Given the description of an element on the screen output the (x, y) to click on. 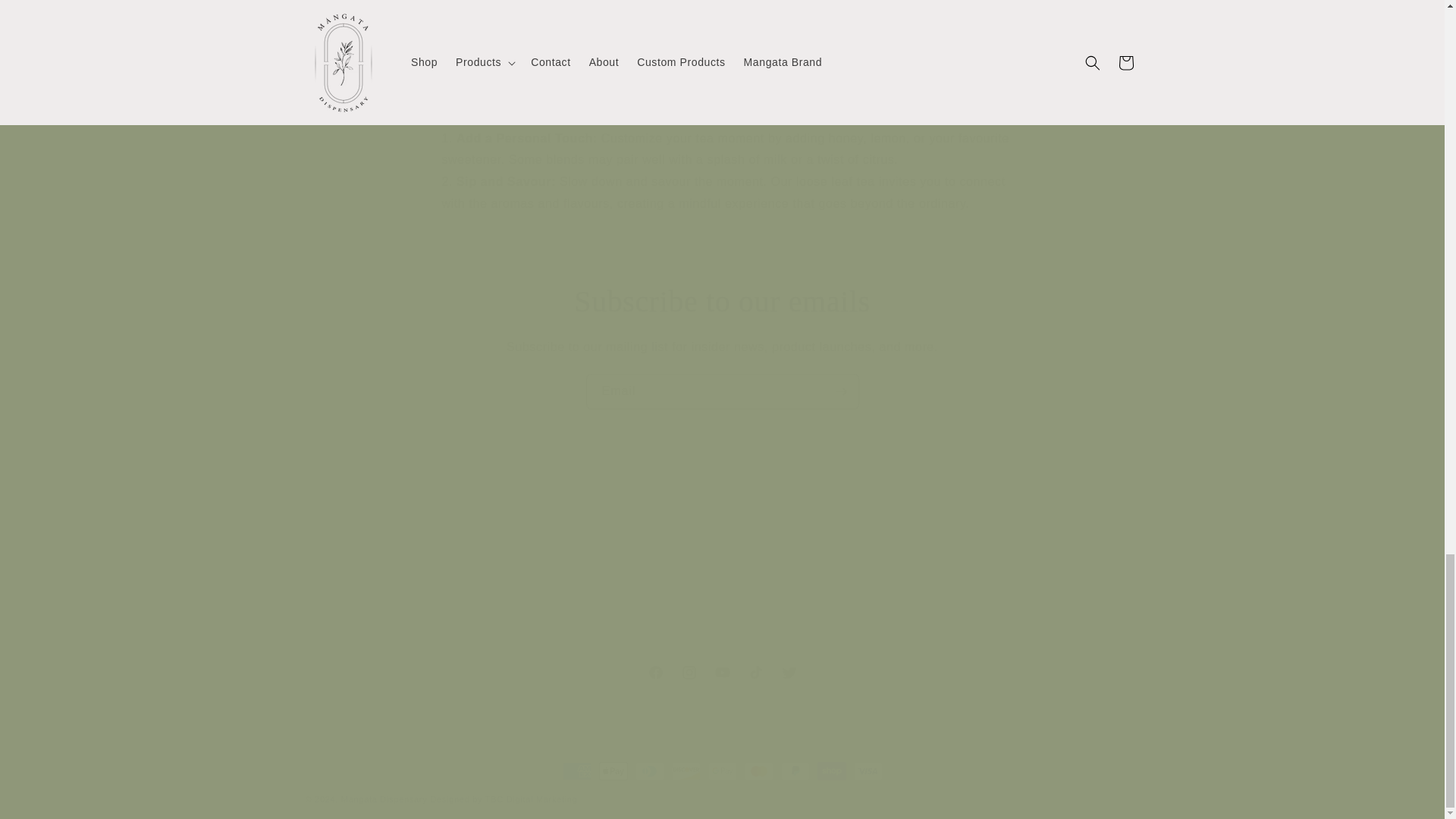
Email (722, 391)
Tea Dispenser (664, 49)
Subscribe to our emails (827, 553)
